Given the description of an element on the screen output the (x, y) to click on. 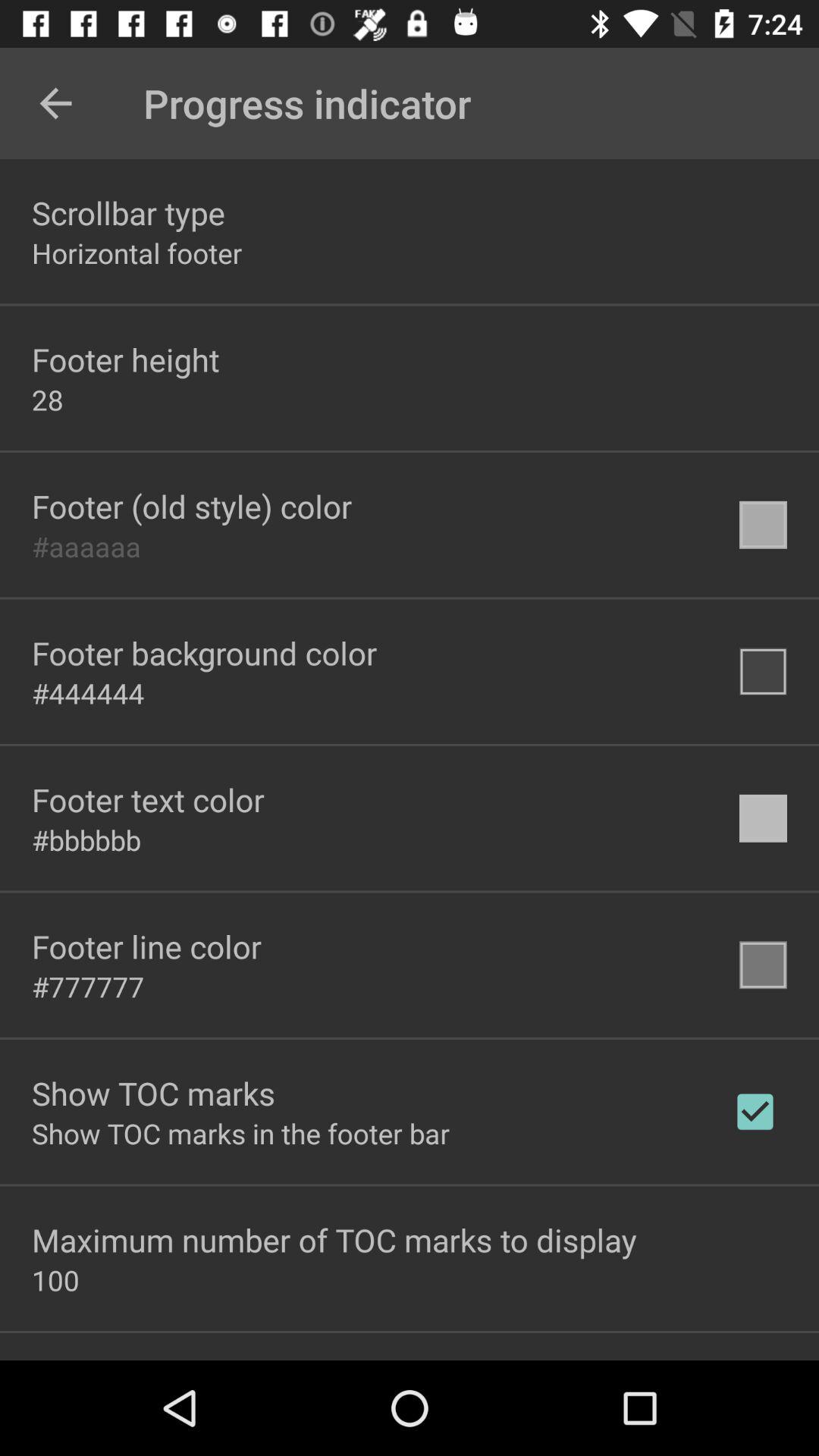
go back button (55, 103)
